Given the description of an element on the screen output the (x, y) to click on. 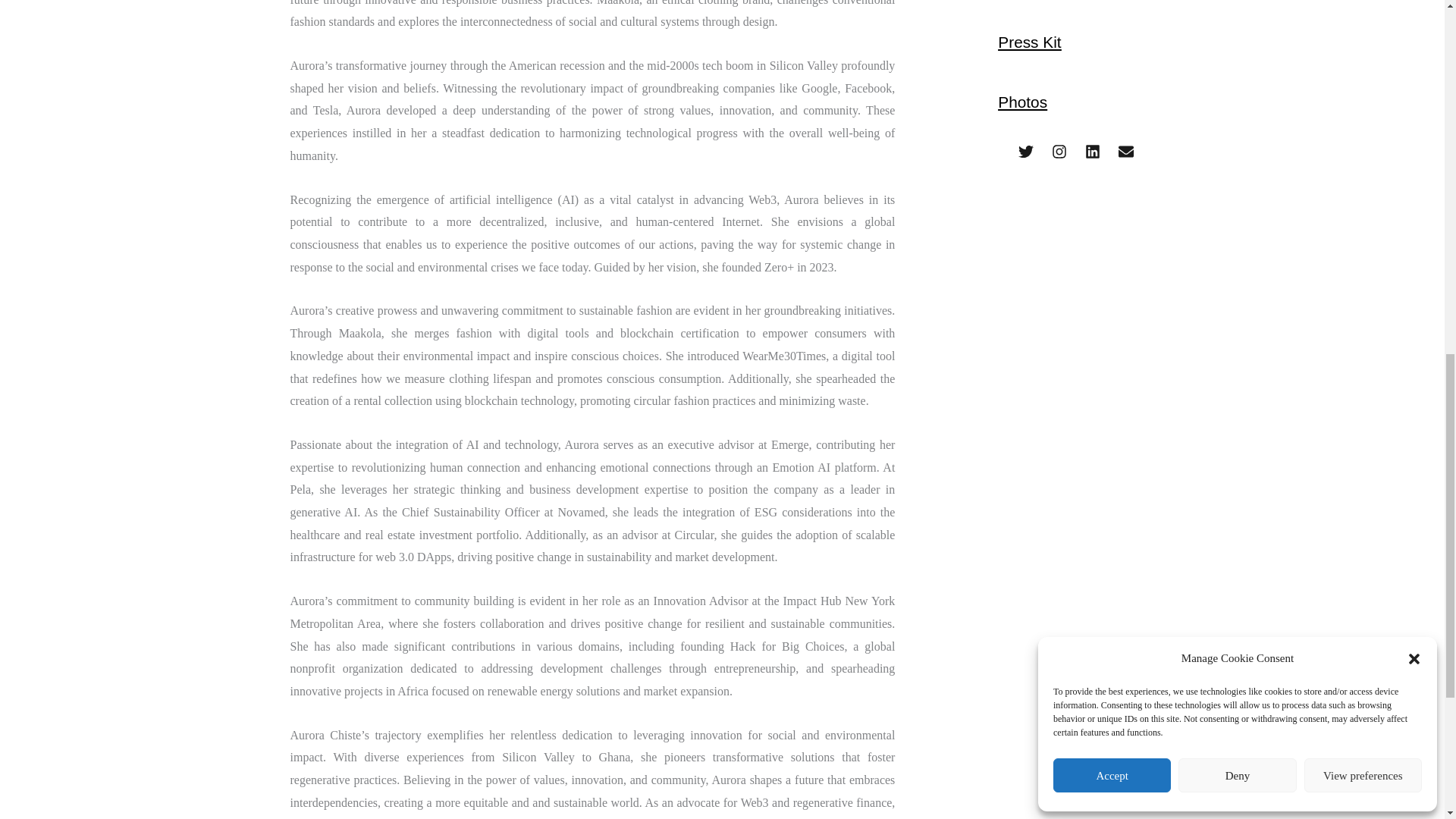
Twitter (1025, 151)
Press Kit (1029, 41)
Photos (1021, 101)
Linkedin (1092, 151)
Envelope (1126, 151)
Instagram (1059, 151)
